Given the description of an element on the screen output the (x, y) to click on. 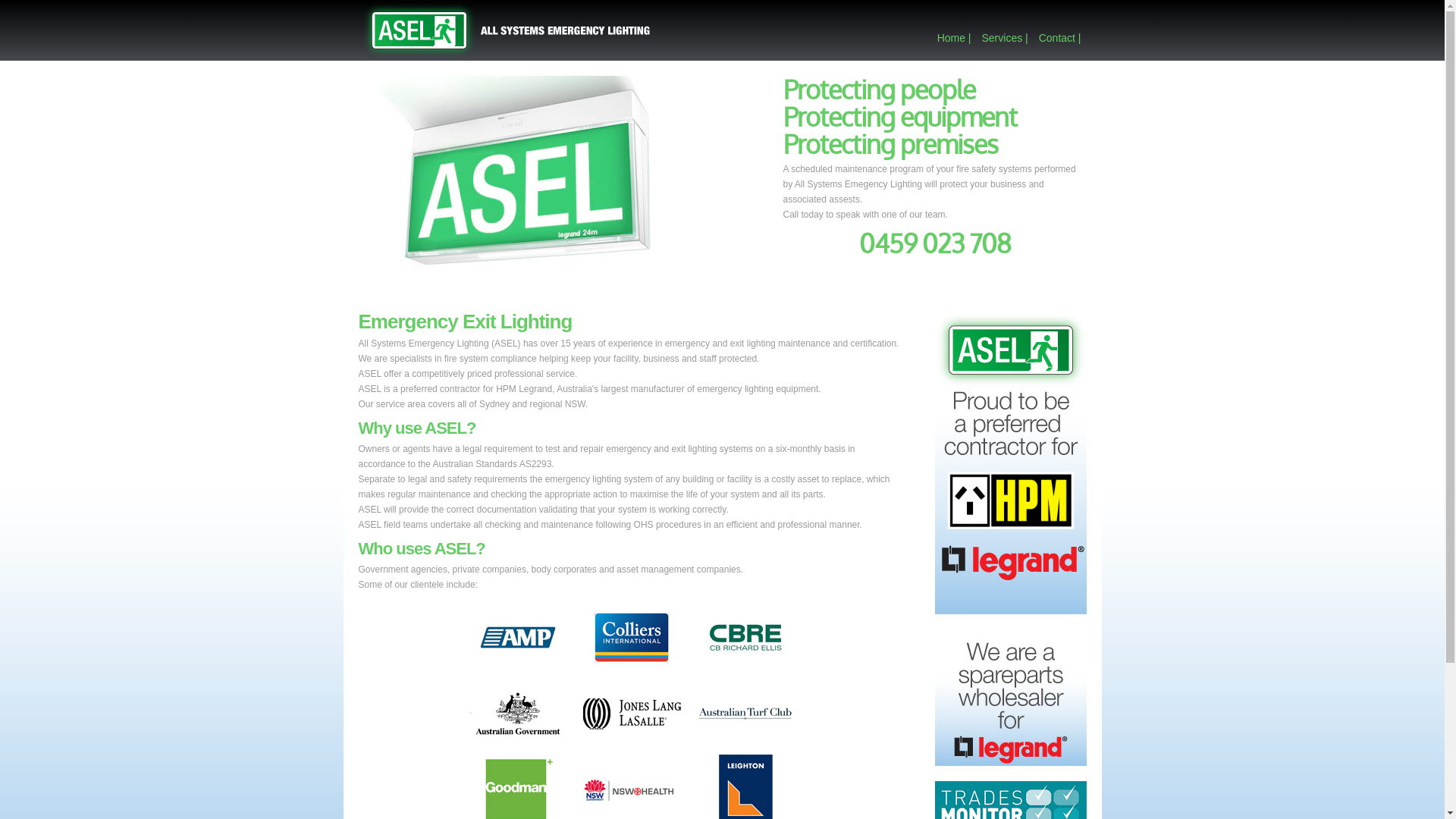
Contact | Element type: text (1059, 37)
Services | Element type: text (1004, 37)
Home | Element type: text (954, 37)
